Given the description of an element on the screen output the (x, y) to click on. 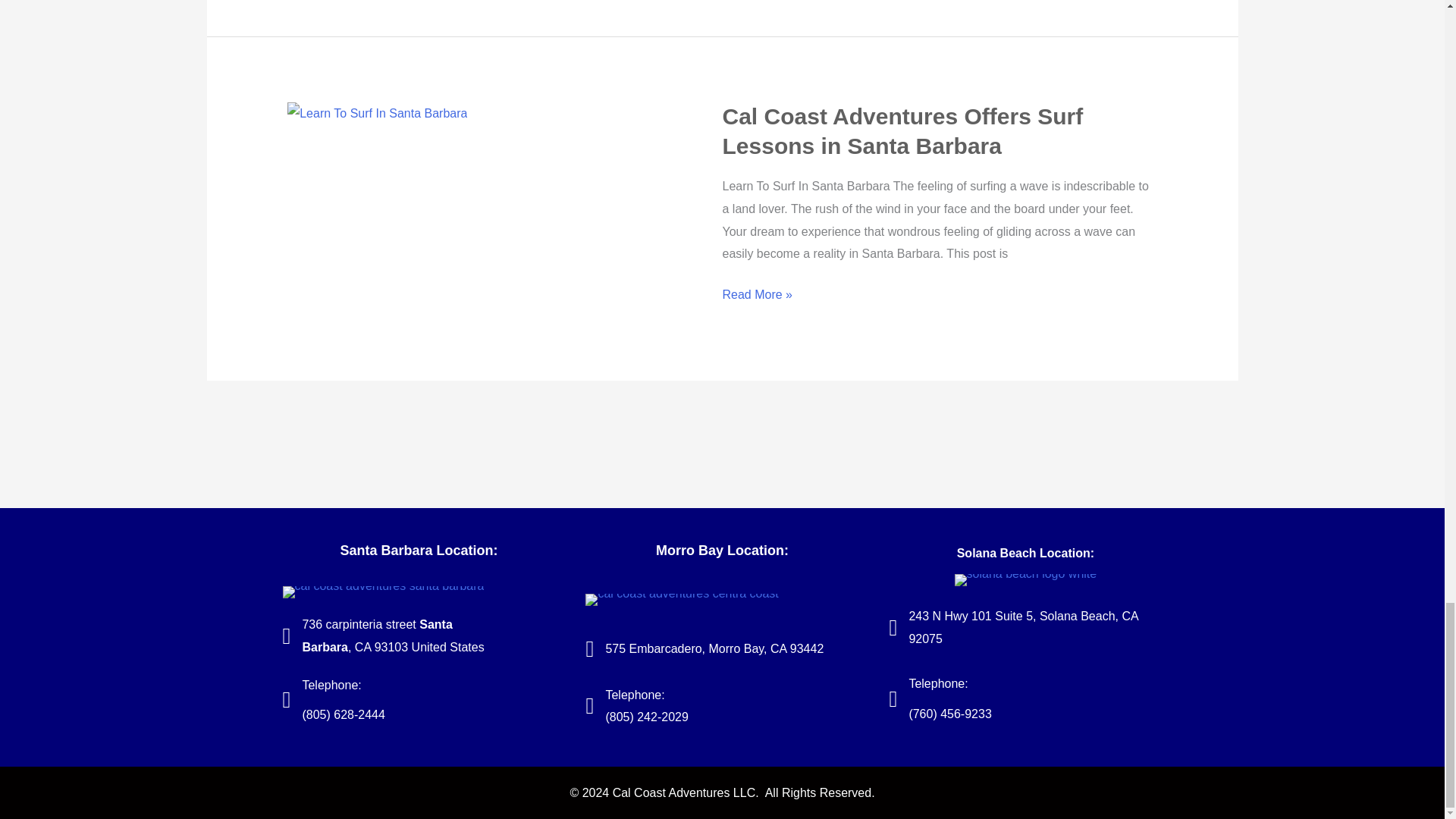
Cal Coast Central Coast LOGO (681, 599)
Cal Coast SB Logo for Web (382, 592)
cal coast solana beach logo horizontal white (1026, 580)
